Given the description of an element on the screen output the (x, y) to click on. 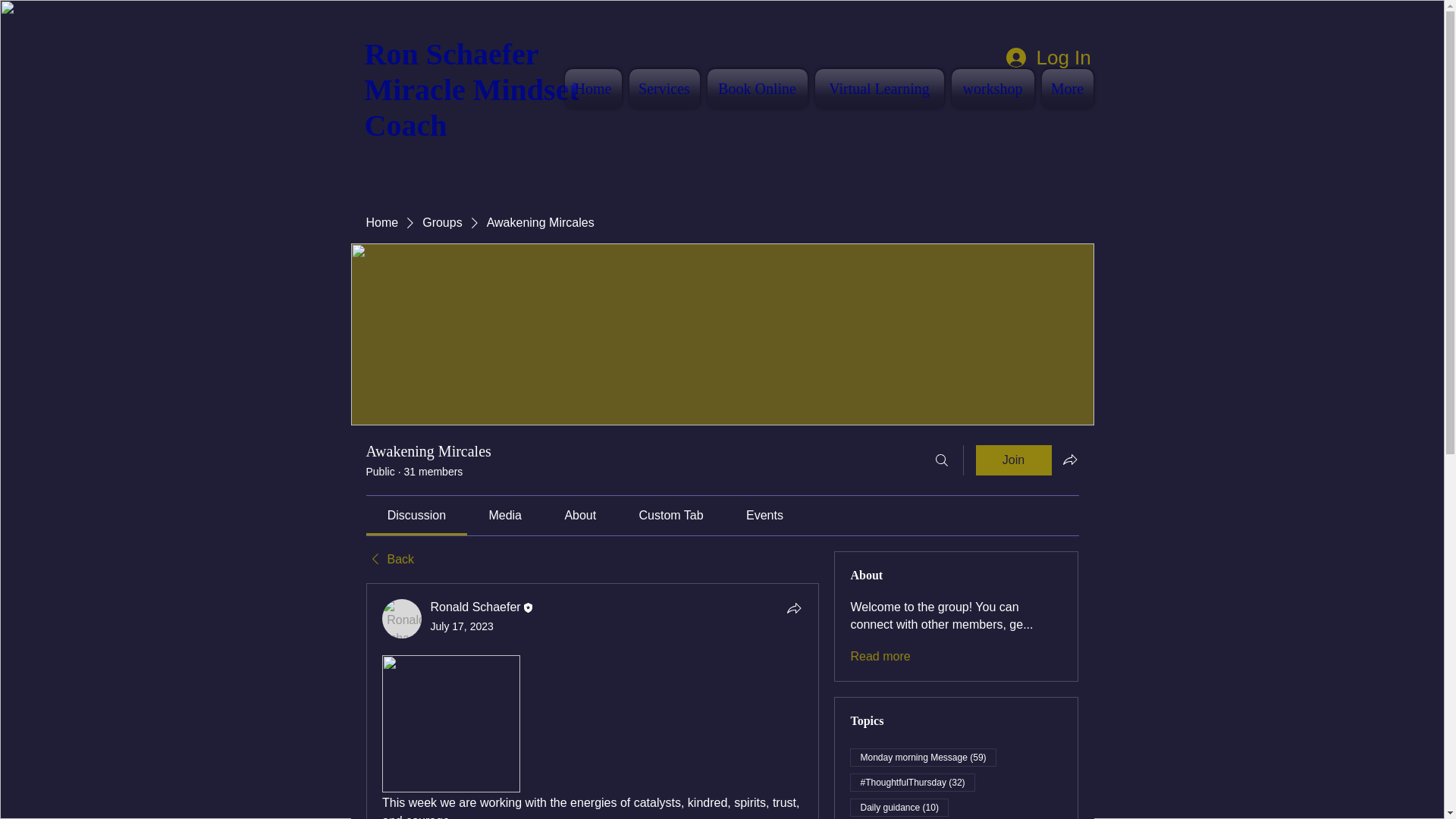
Ronald Schaefer (475, 606)
Book Online (756, 88)
Read more (880, 656)
workshop (992, 88)
Log In (1040, 57)
Ronald Schaefer (401, 618)
Home (593, 88)
Home (381, 222)
Groups (441, 222)
Virtual Learning (878, 88)
Services (663, 88)
Join (1013, 460)
July 17, 2023 (461, 625)
Back (389, 559)
